Given the description of an element on the screen output the (x, y) to click on. 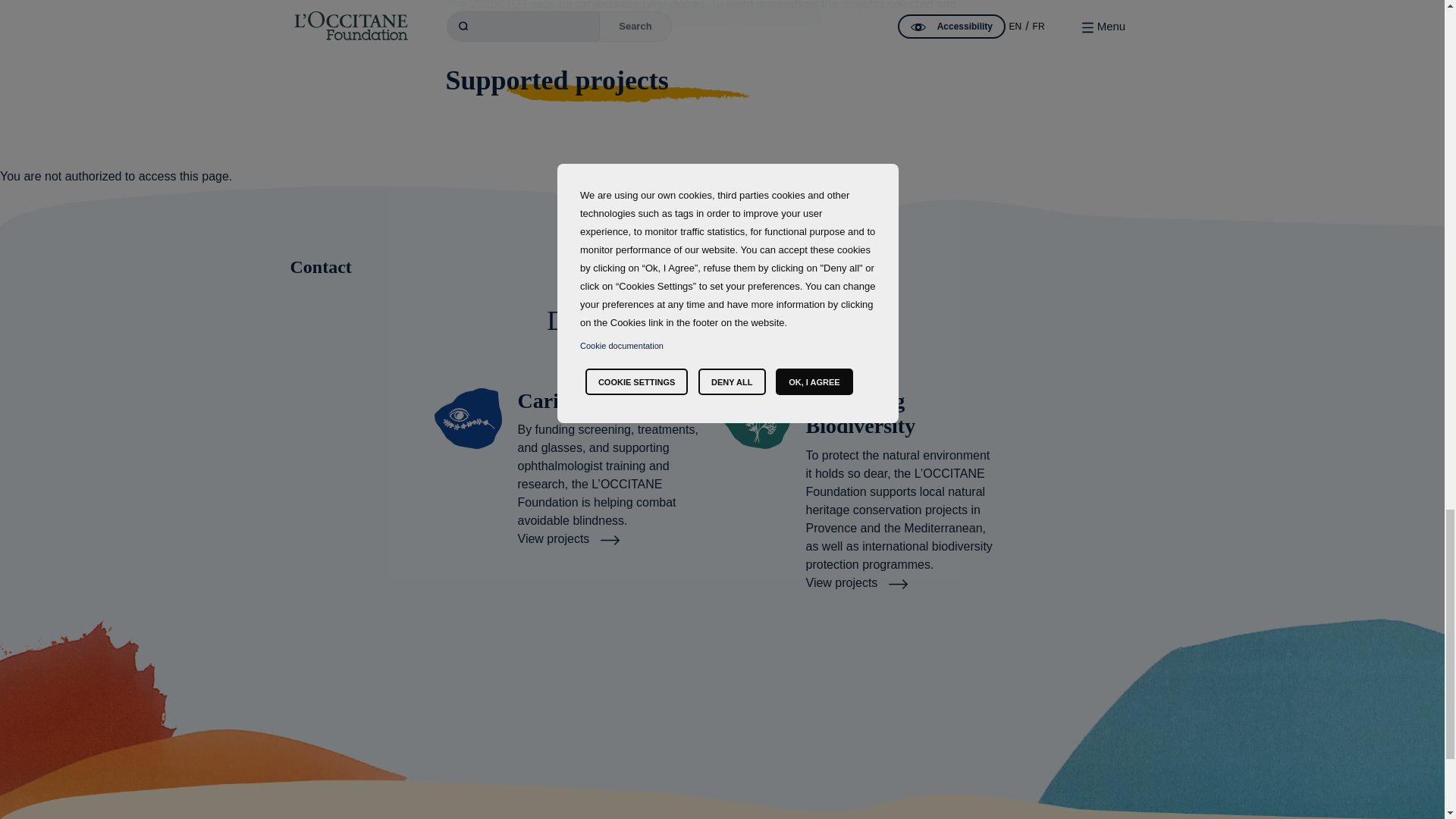
View projects (568, 538)
View Respecting Biodiversity projects (856, 582)
View projects (856, 582)
View Caring for Sight projects (568, 538)
Contact (721, 266)
